Given the description of an element on the screen output the (x, y) to click on. 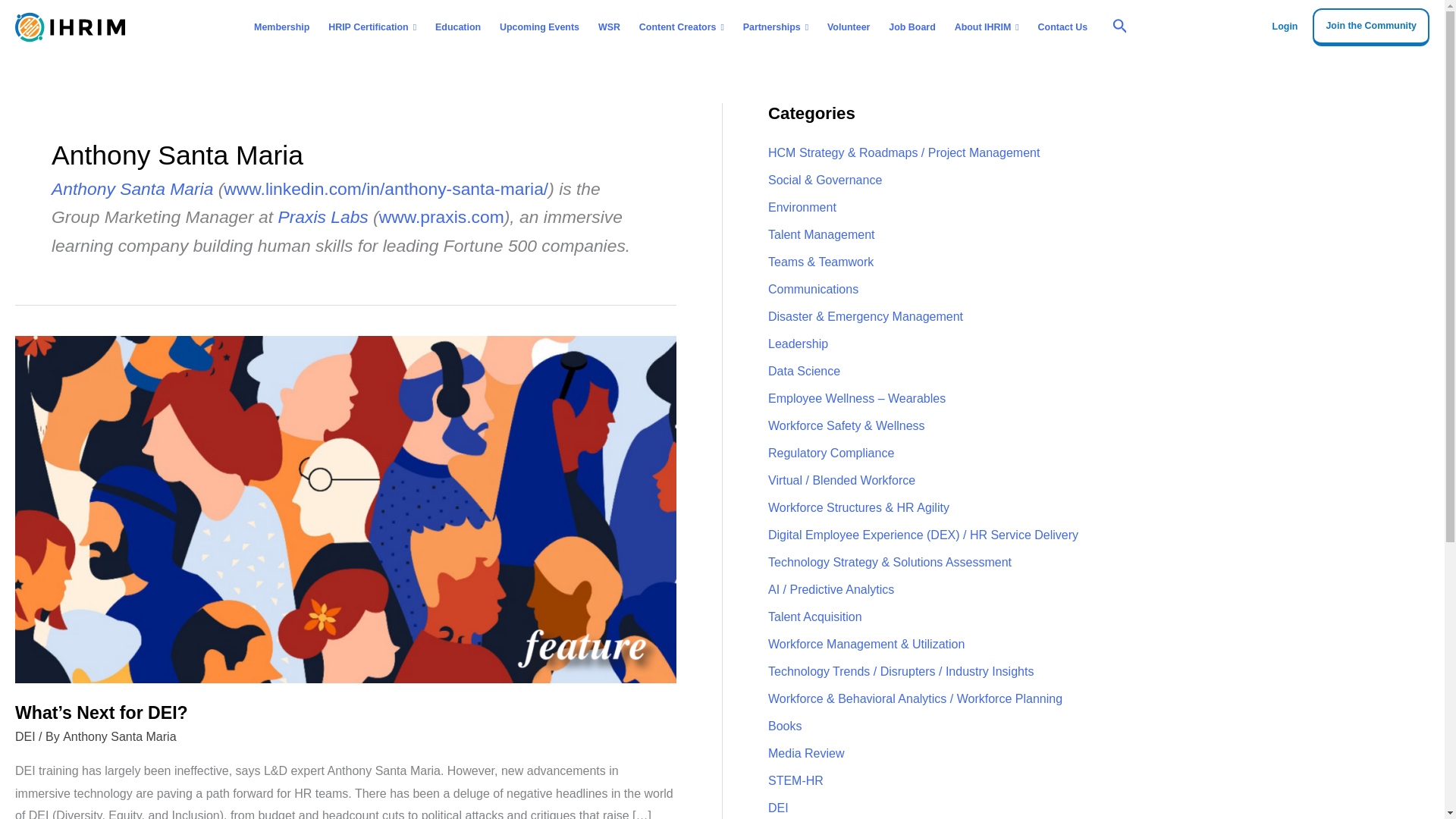
Job Board (911, 27)
HRIP Certification (372, 27)
WSR (608, 27)
Volunteer (848, 27)
Upcoming Events (539, 27)
Join the Community (1371, 26)
About IHRIM (985, 27)
Content Creators (680, 27)
Education (458, 27)
Login (1285, 27)
